Given the description of an element on the screen output the (x, y) to click on. 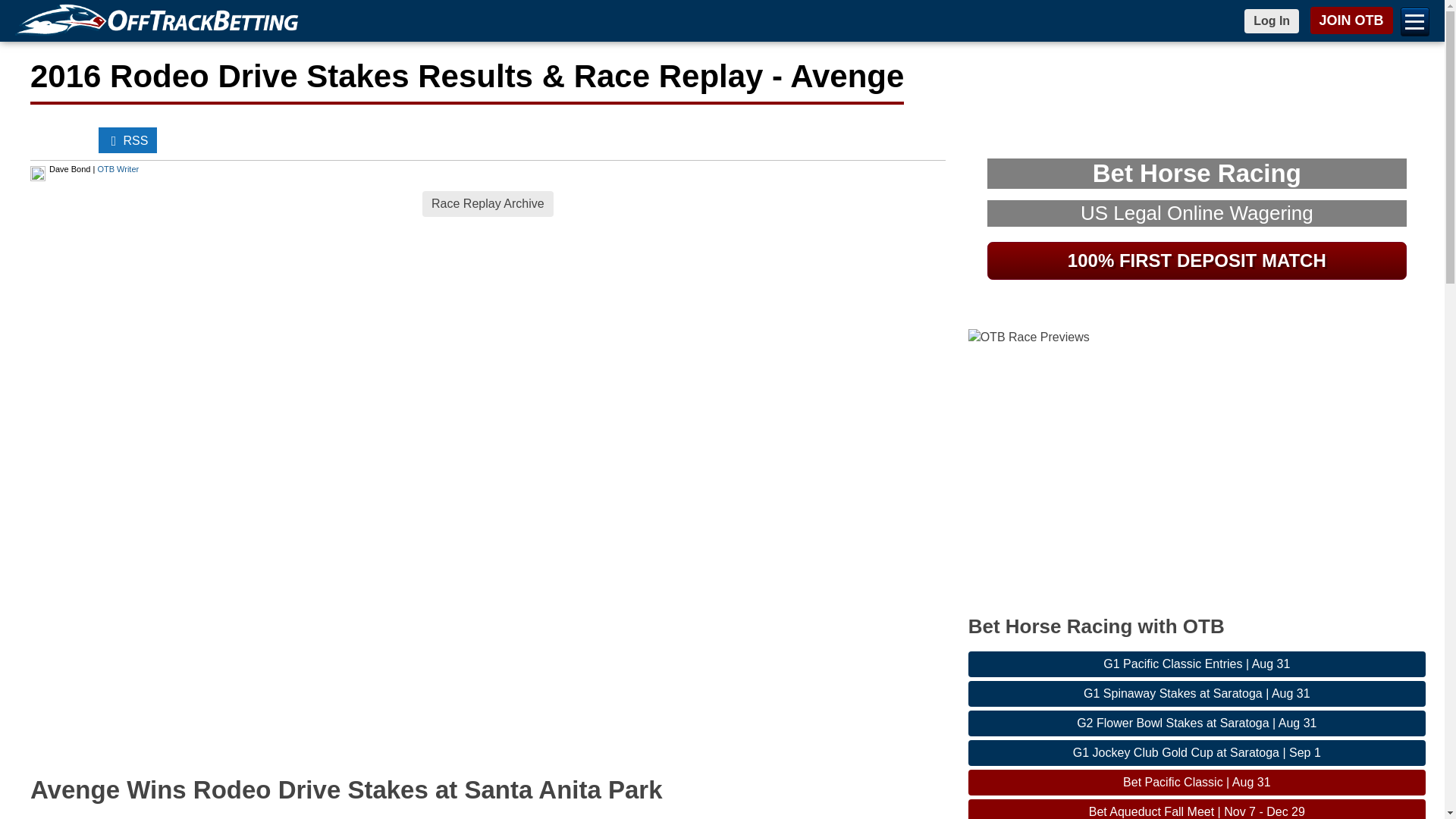
2024 Pacific Classic Entries Odds (1196, 664)
Off Track Betting (159, 20)
2024 Flower Bowl Stakes Entries Odds (1196, 723)
Horse Racing RSS Feeds (128, 140)
2024 Jockey Club Gold Cup Entries Odds (1196, 752)
Bet Pacific Classic 2024 (1196, 782)
Bet Aqueduct with OTB (1196, 809)
Share with Facebook (45, 139)
Share with Twitter (77, 139)
2024 Spinaway Stakes Entries Odds (1196, 693)
